Given the description of an element on the screen output the (x, y) to click on. 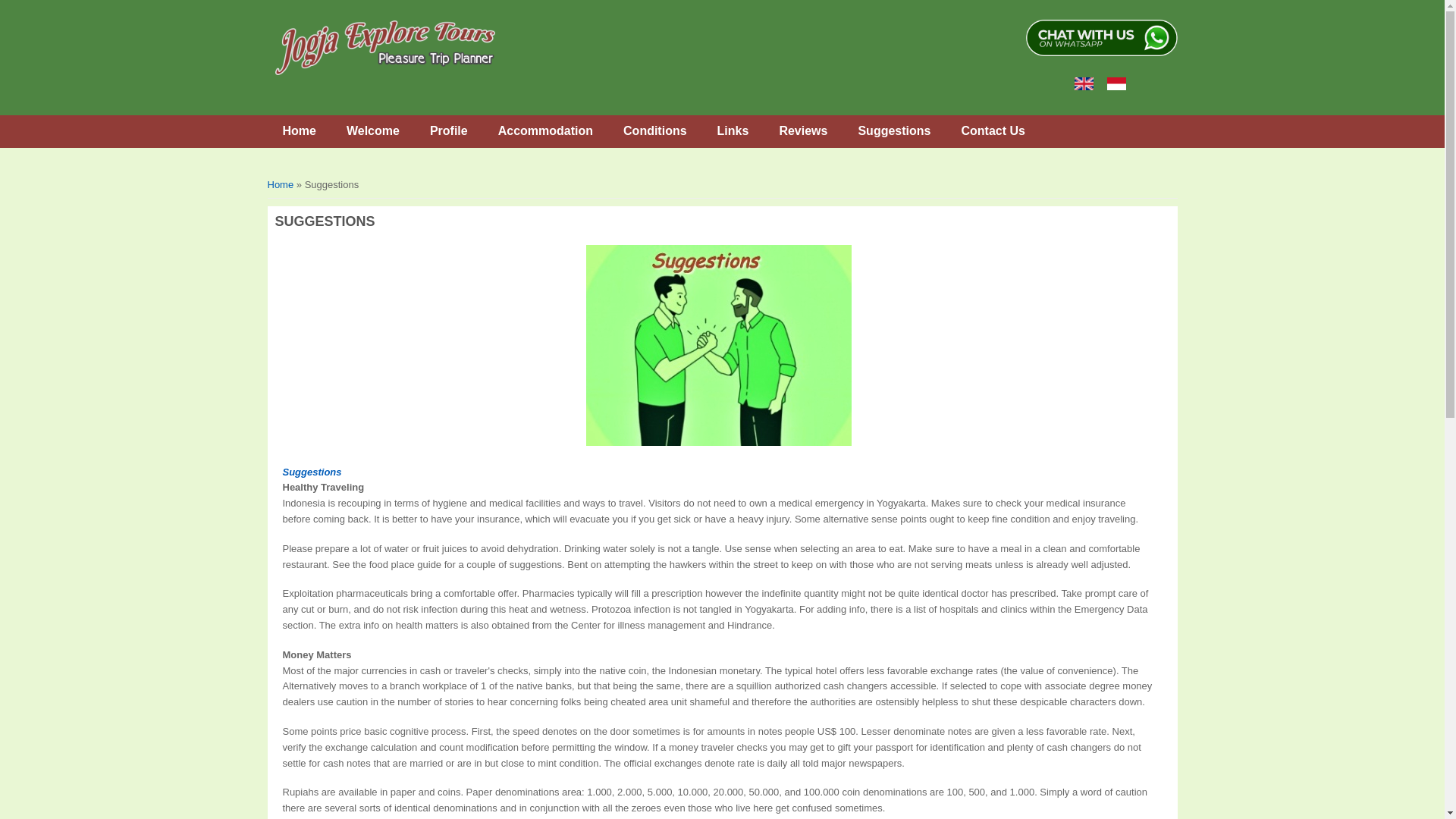
Contact Us (991, 131)
Conditions (654, 131)
Welcome (372, 131)
Links (732, 131)
Suggestions (311, 471)
Suggestions (893, 131)
Profile (448, 131)
Home (384, 47)
Reviews (802, 131)
Accommodation (545, 131)
English (1083, 83)
Bahasa Indonesia (1115, 83)
Home (280, 184)
Home (298, 131)
